Given the description of an element on the screen output the (x, y) to click on. 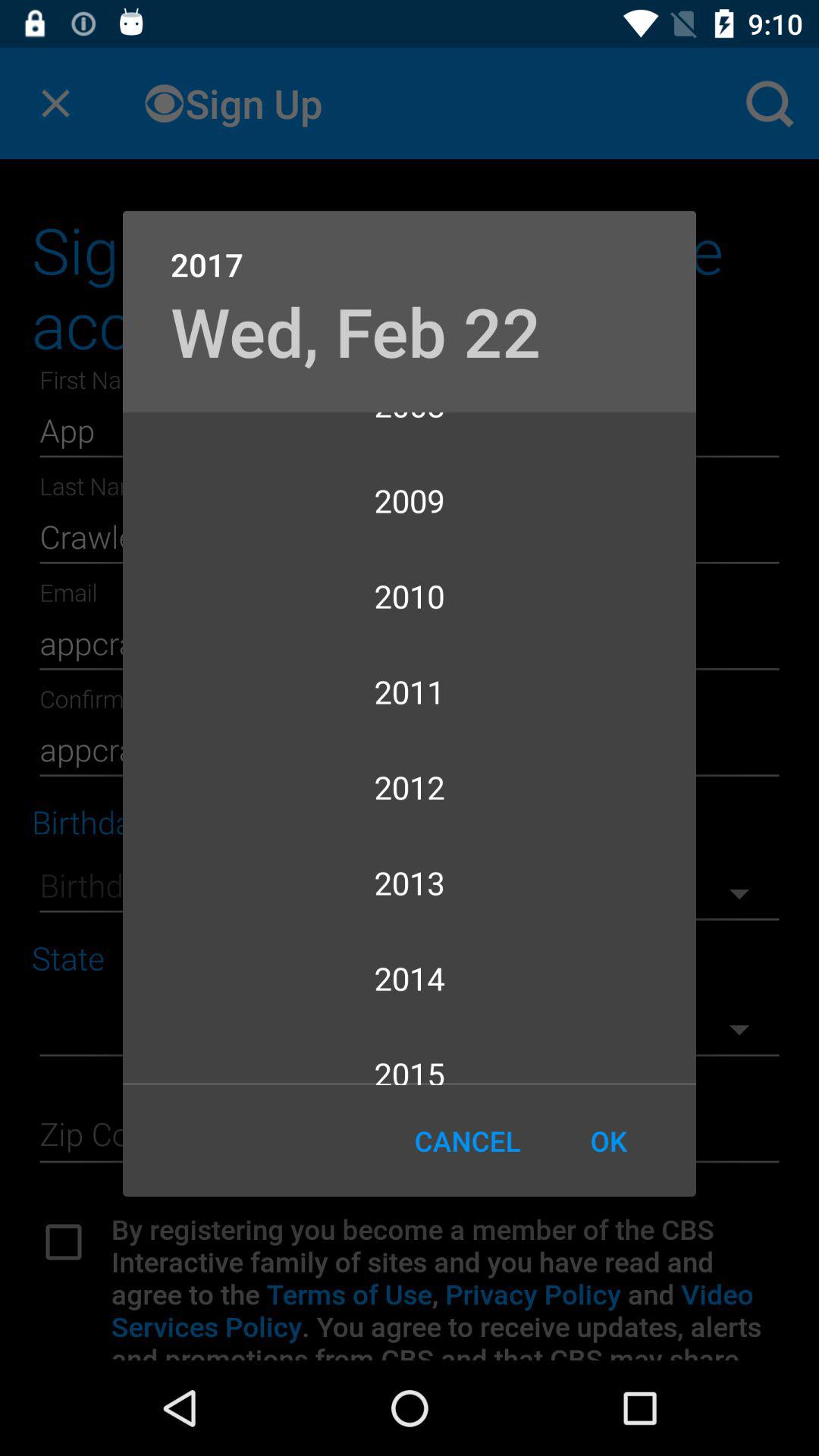
swipe until 2017 (409, 248)
